Given the description of an element on the screen output the (x, y) to click on. 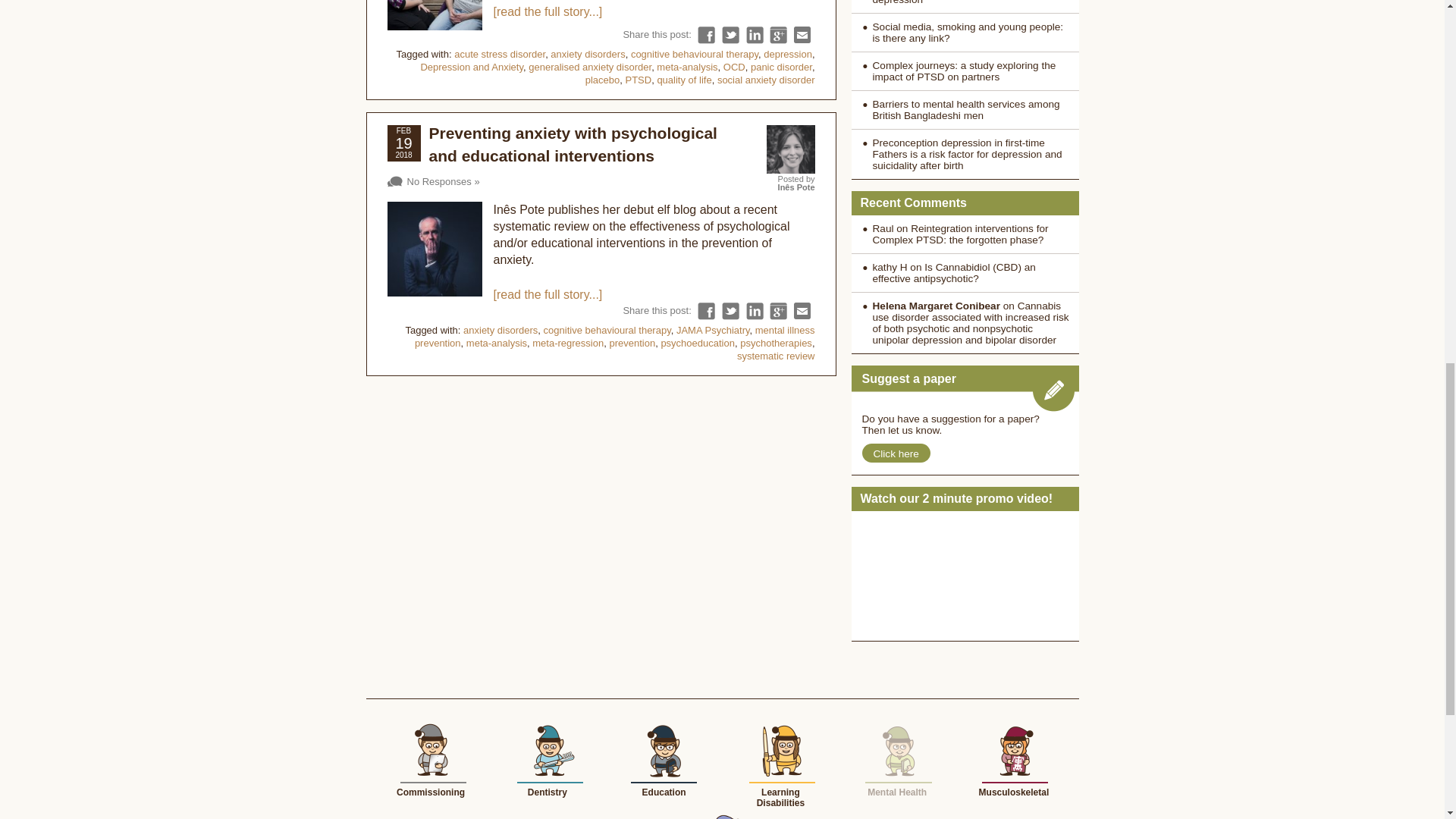
Share via email (801, 311)
Share on LinkedIn (753, 35)
Tweet this on Twitter (730, 35)
Share on Facebook (705, 311)
Share on LinkedIn (753, 311)
Tweet this on Twitter (730, 311)
Share on Facebook (705, 35)
Share via email (801, 35)
